Given the description of an element on the screen output the (x, y) to click on. 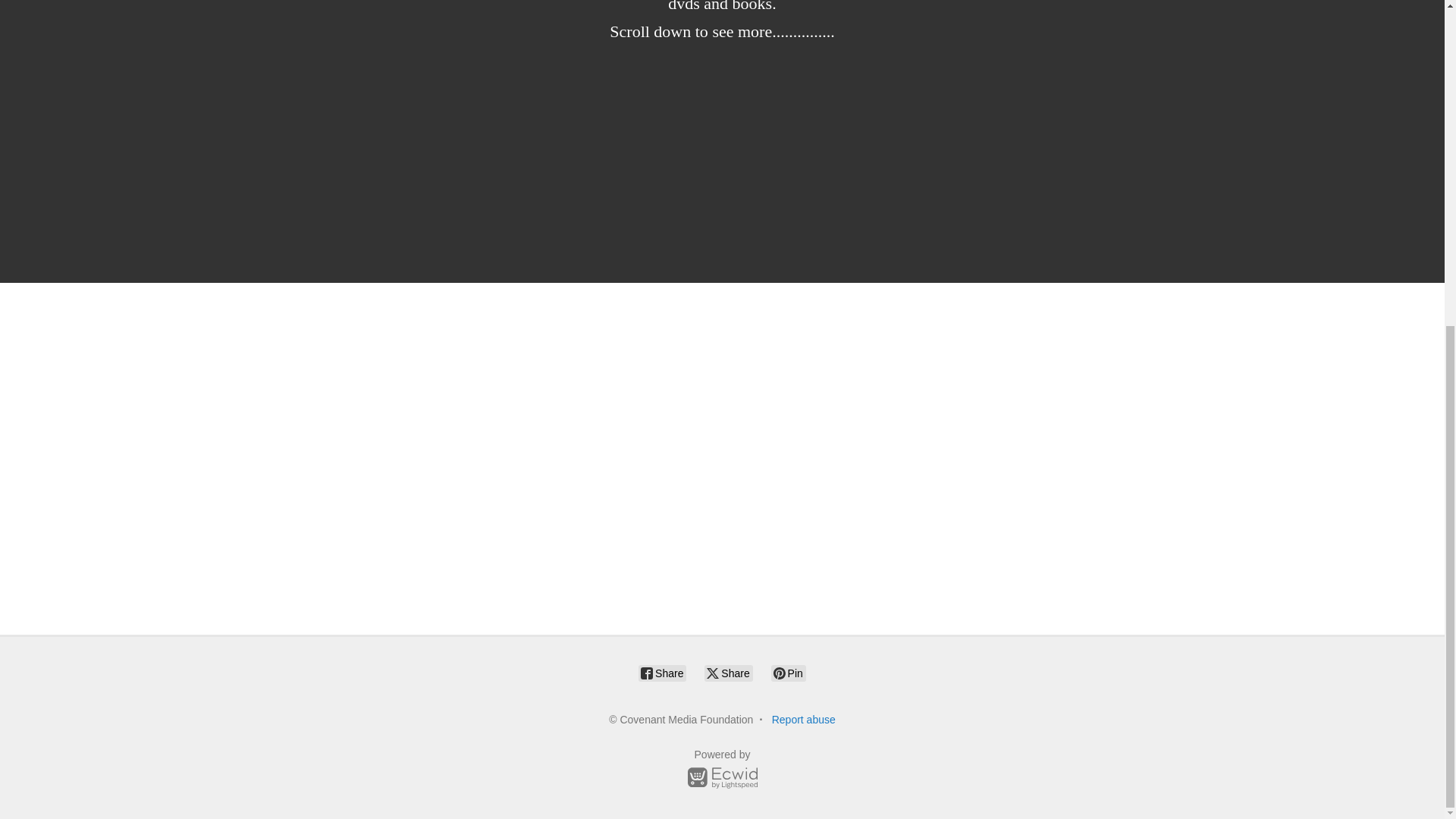
Share (662, 673)
Powered by (722, 771)
Report abuse (803, 719)
Pin (788, 673)
Share (728, 673)
